Given the description of an element on the screen output the (x, y) to click on. 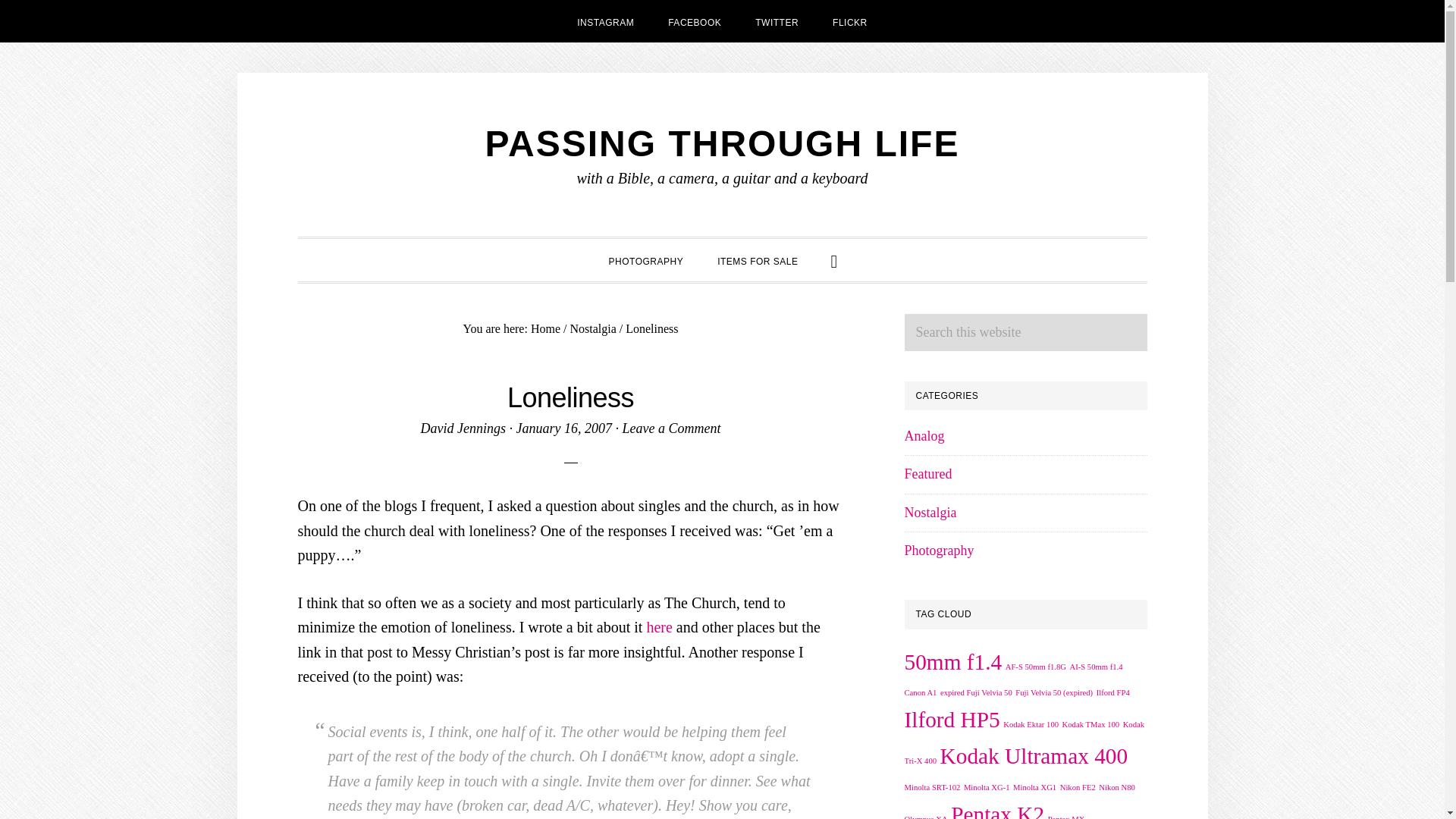
AI-S 50mm f1.4 (1095, 666)
Kodak TMax 100 (1090, 724)
Analog (923, 435)
PASSING THROUGH LIFE (721, 143)
FLICKR (849, 21)
Photography (939, 549)
Featured (928, 473)
David Jennings (462, 427)
Ilford HP5 (951, 719)
TWITTER (776, 21)
FACEBOOK (694, 21)
Ilford FP4 (1112, 692)
Canon A1 (920, 692)
here (658, 627)
